Given the description of an element on the screen output the (x, y) to click on. 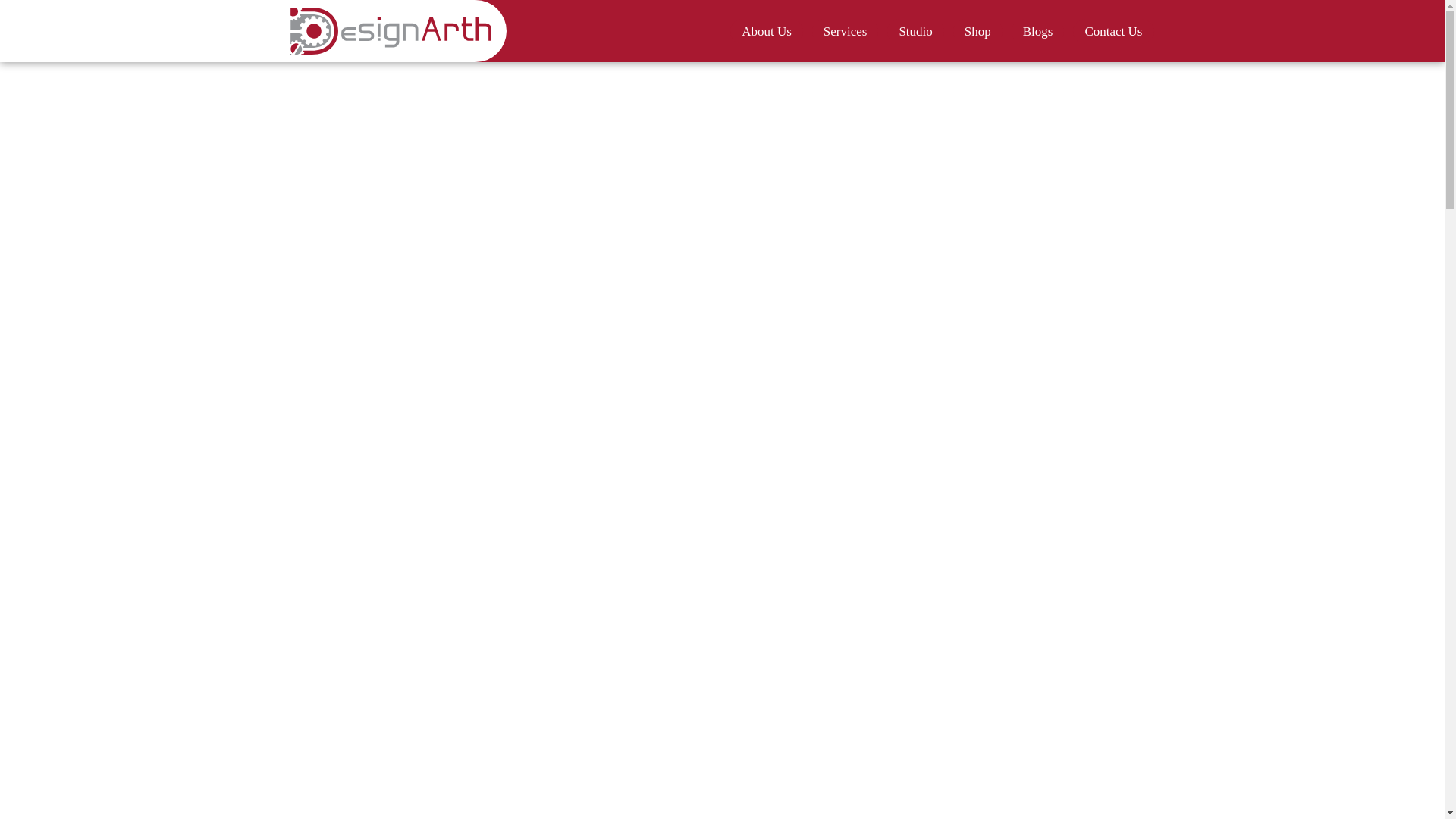
Services (844, 31)
Contact Us (1112, 31)
About Us (766, 31)
Studio (914, 31)
Blogs (1037, 31)
Shop (977, 31)
